Given the description of an element on the screen output the (x, y) to click on. 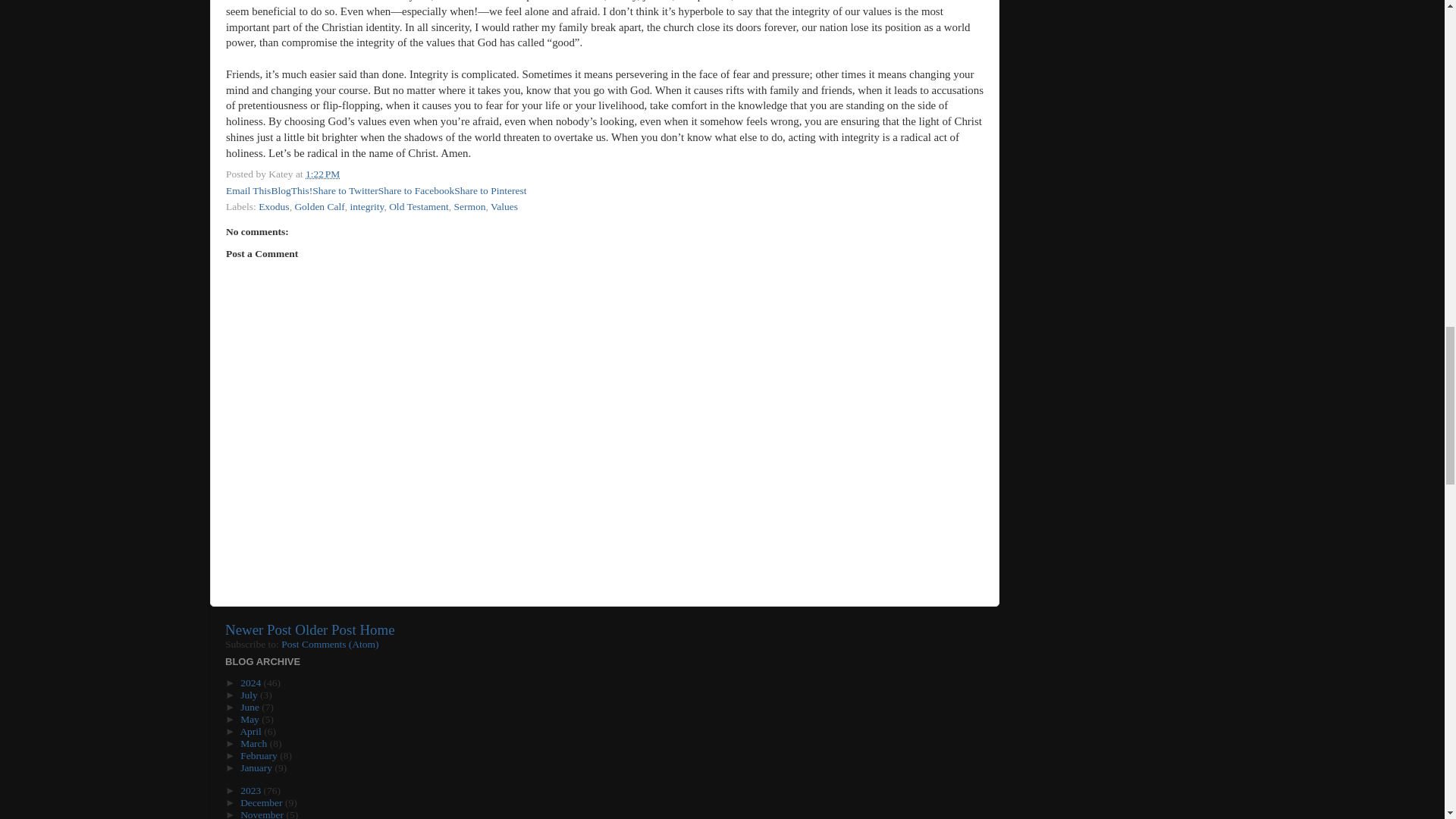
January (257, 767)
Home (376, 629)
Exodus (274, 206)
Share to Facebook (416, 190)
BlogThis! (291, 190)
Golden Calf (318, 206)
Older Post (325, 629)
Newer Post (258, 629)
Older Post (325, 629)
Share to Twitter (345, 190)
Share to Twitter (345, 190)
March (254, 743)
Values (504, 206)
Email This (247, 190)
July (250, 695)
